Given the description of an element on the screen output the (x, y) to click on. 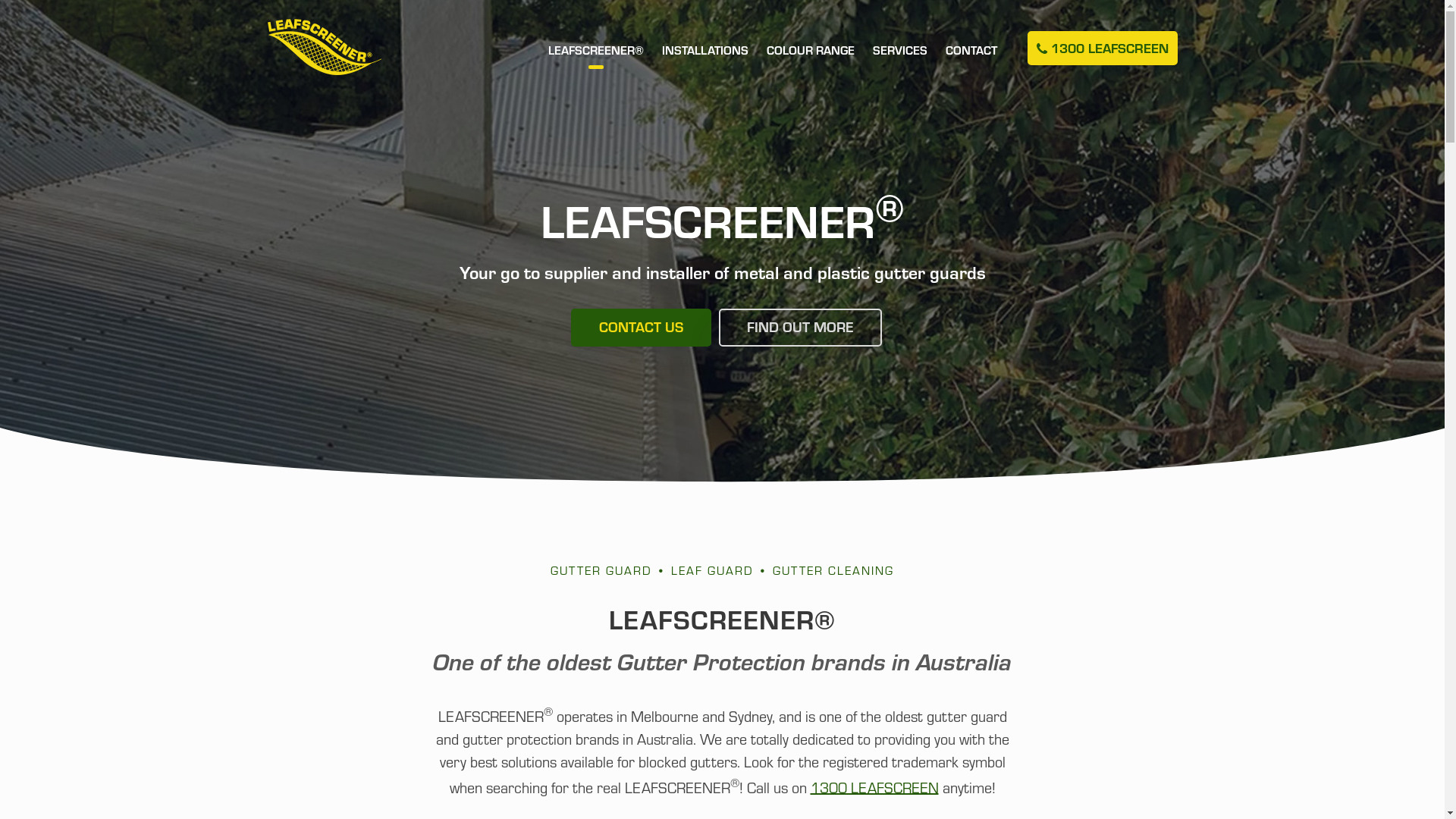
COLOUR RANGE Element type: text (809, 63)
FIND OUT MORE Element type: text (799, 327)
1300 LEAFSCREEN Element type: text (1101, 48)
INSTALLATIONS Element type: text (704, 63)
CONTACT Element type: text (970, 63)
CONTACT US Element type: text (640, 327)
1300 LEAFSCREEN Element type: text (873, 785)
SERVICES Element type: text (899, 63)
